Given the description of an element on the screen output the (x, y) to click on. 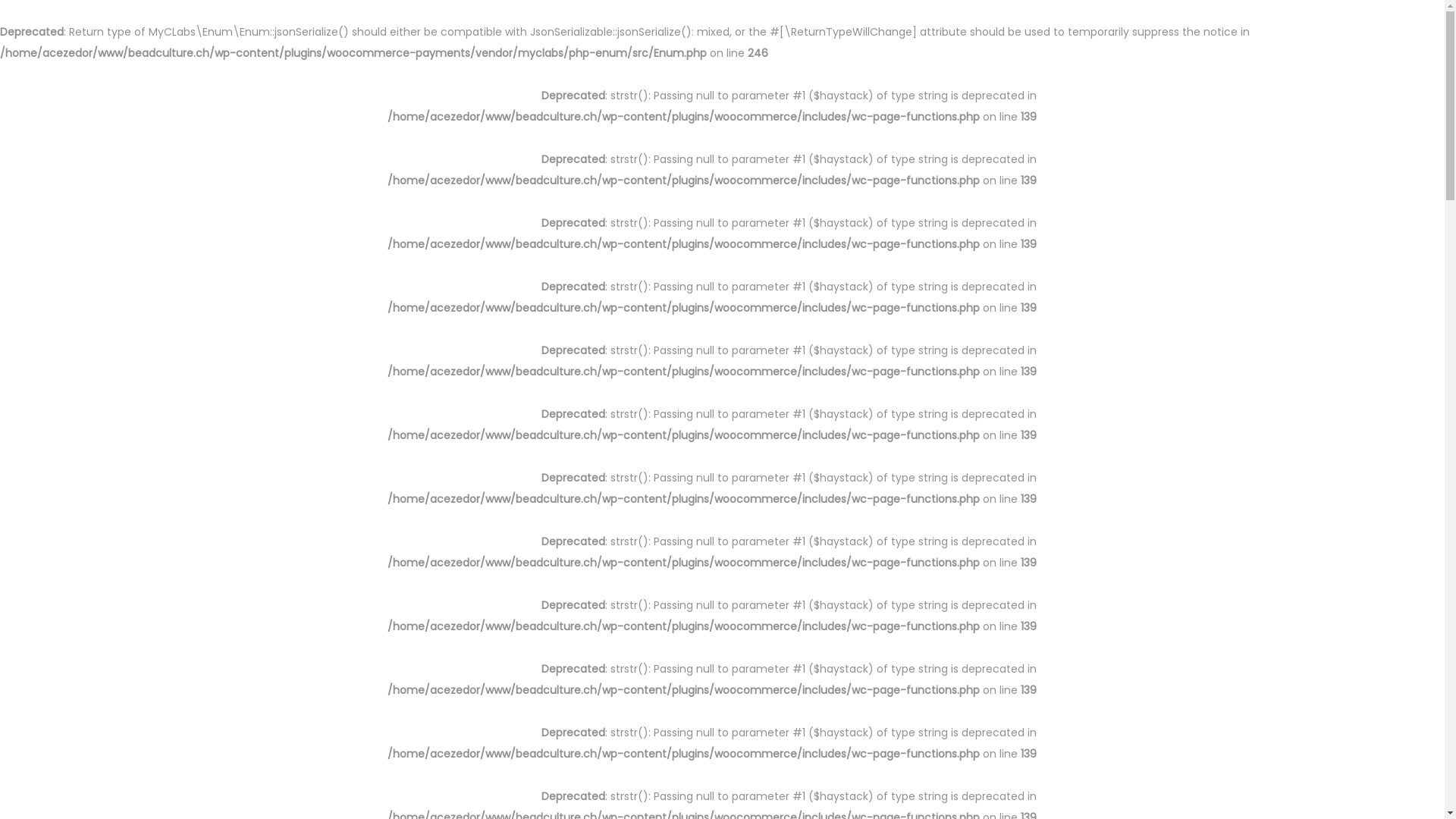
Search Element type: text (950, 428)
